Given the description of an element on the screen output the (x, y) to click on. 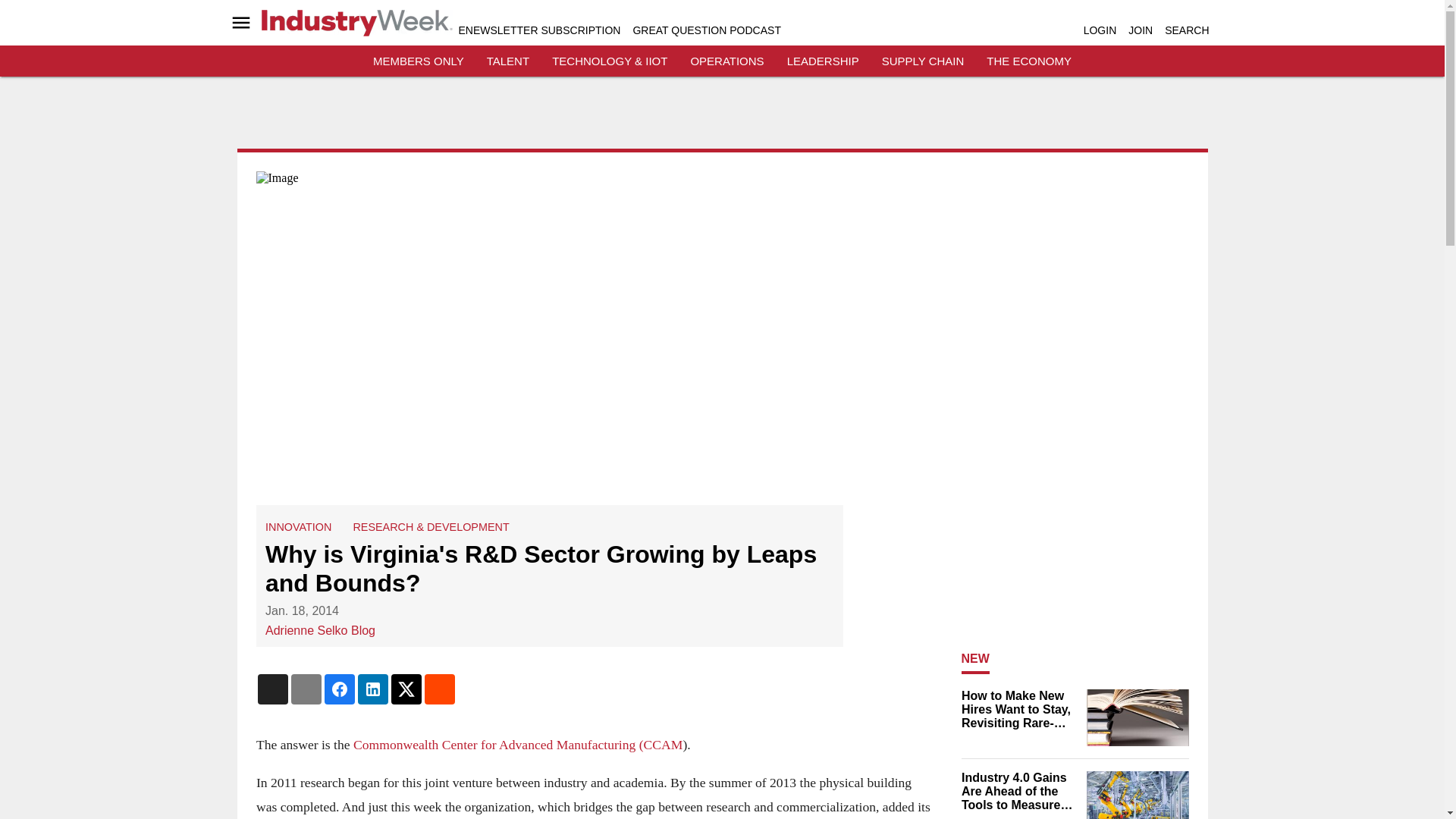
THE ECONOMY (1029, 60)
SUPPLY CHAIN (922, 60)
OPERATIONS (726, 60)
TALENT (507, 60)
ENEWSLETTER SUBSCRIPTION (539, 30)
SEARCH (1186, 30)
GREAT QUESTION PODCAST (705, 30)
LEADERSHIP (823, 60)
JOIN (1140, 30)
LOGIN (1099, 30)
MEMBERS ONLY (418, 60)
